Given the description of an element on the screen output the (x, y) to click on. 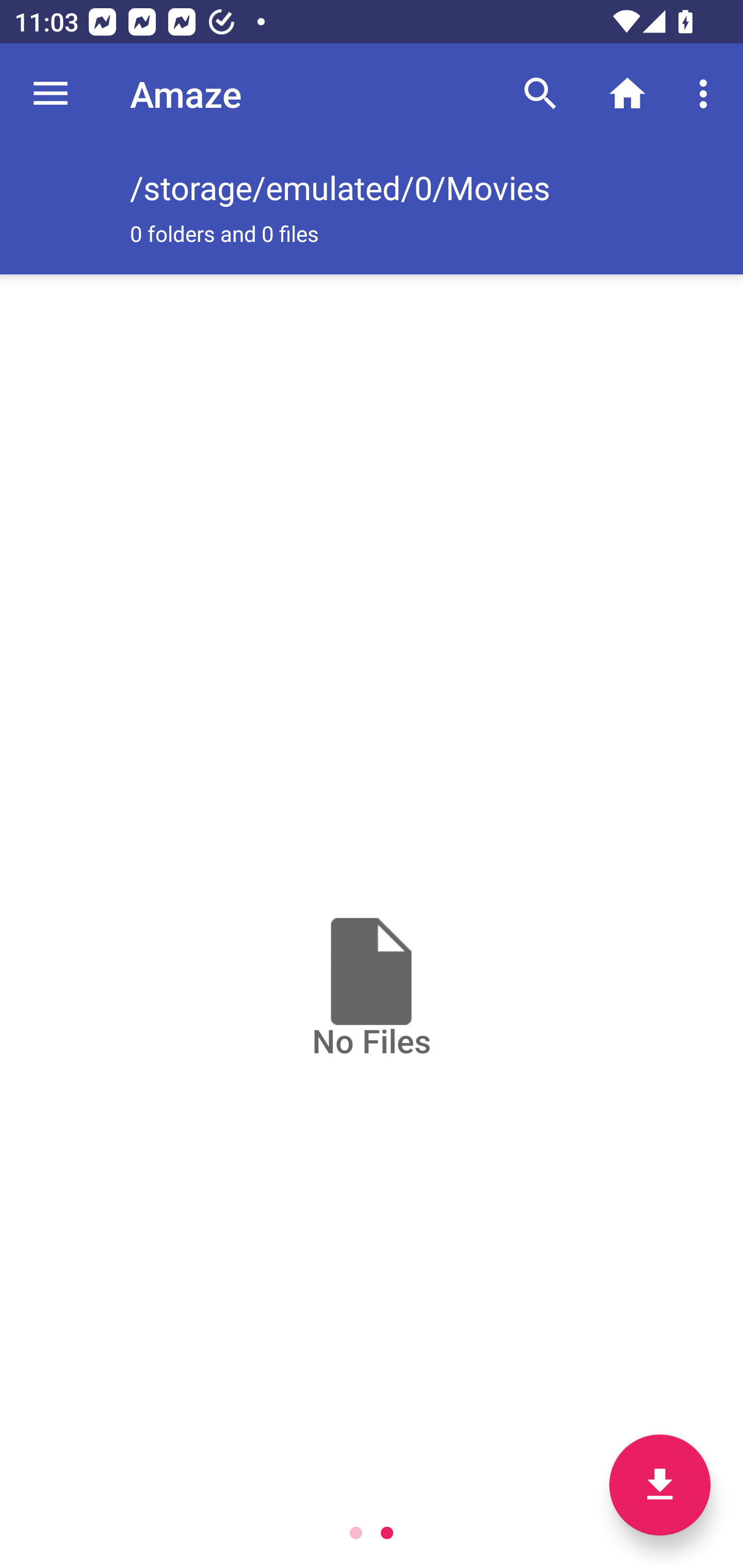
Navigate up (50, 93)
Search (540, 93)
Home (626, 93)
More options (706, 93)
